Given the description of an element on the screen output the (x, y) to click on. 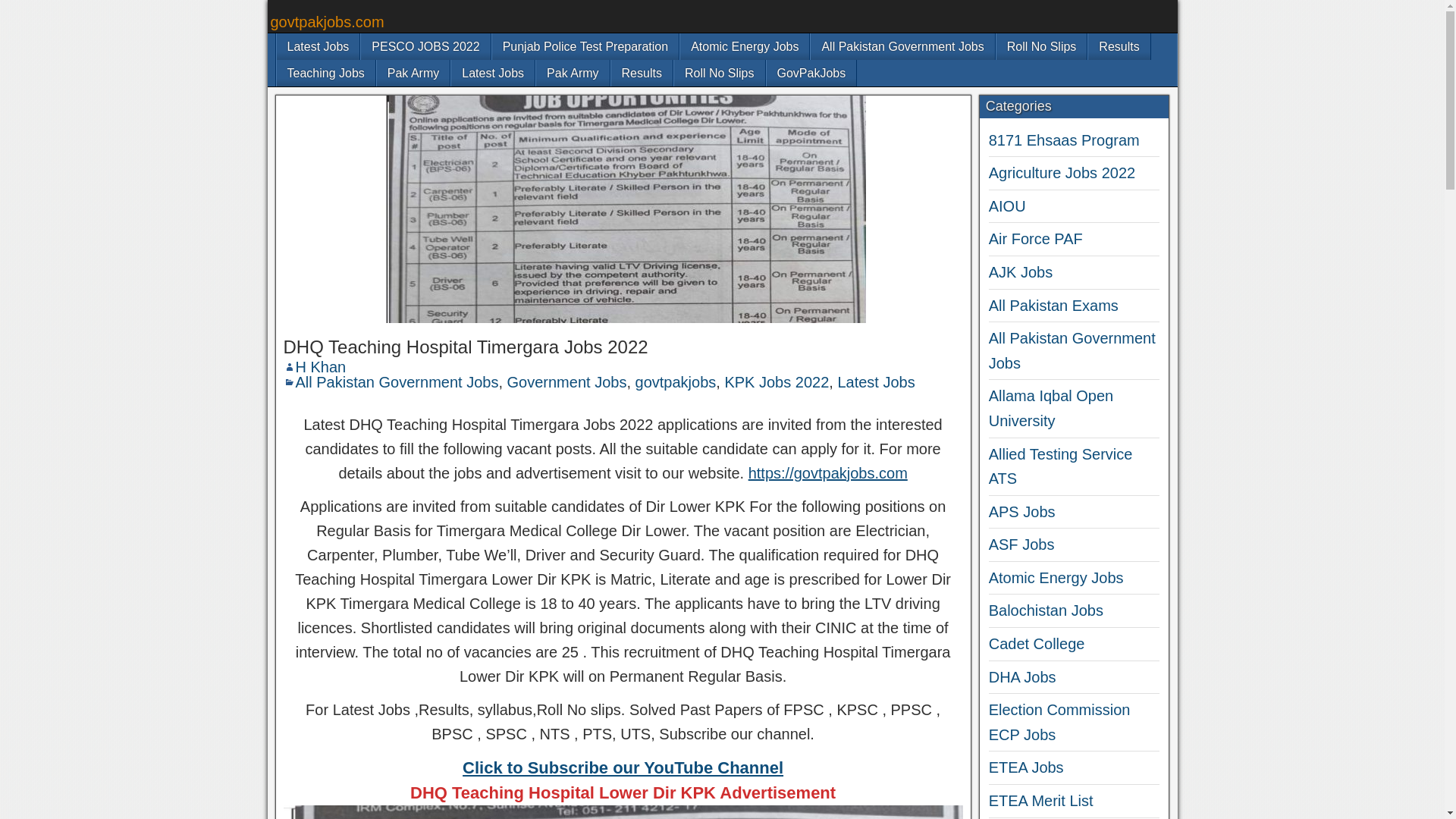
Air Force PAF (1035, 238)
Results (641, 72)
8171 Ehsaas Program (1064, 139)
Pak Army (413, 72)
Latest Jobs (317, 46)
Punjab Police Test Preparation (585, 46)
Government Jobs (566, 381)
Roll No Slips (719, 72)
Pak Army (571, 72)
All Pakistan Government Jobs (397, 381)
H Khan (320, 366)
Teaching Jobs (325, 72)
Roll No Slips (1041, 46)
PESCO JOBS 2022 (425, 46)
Results (1118, 46)
